Given the description of an element on the screen output the (x, y) to click on. 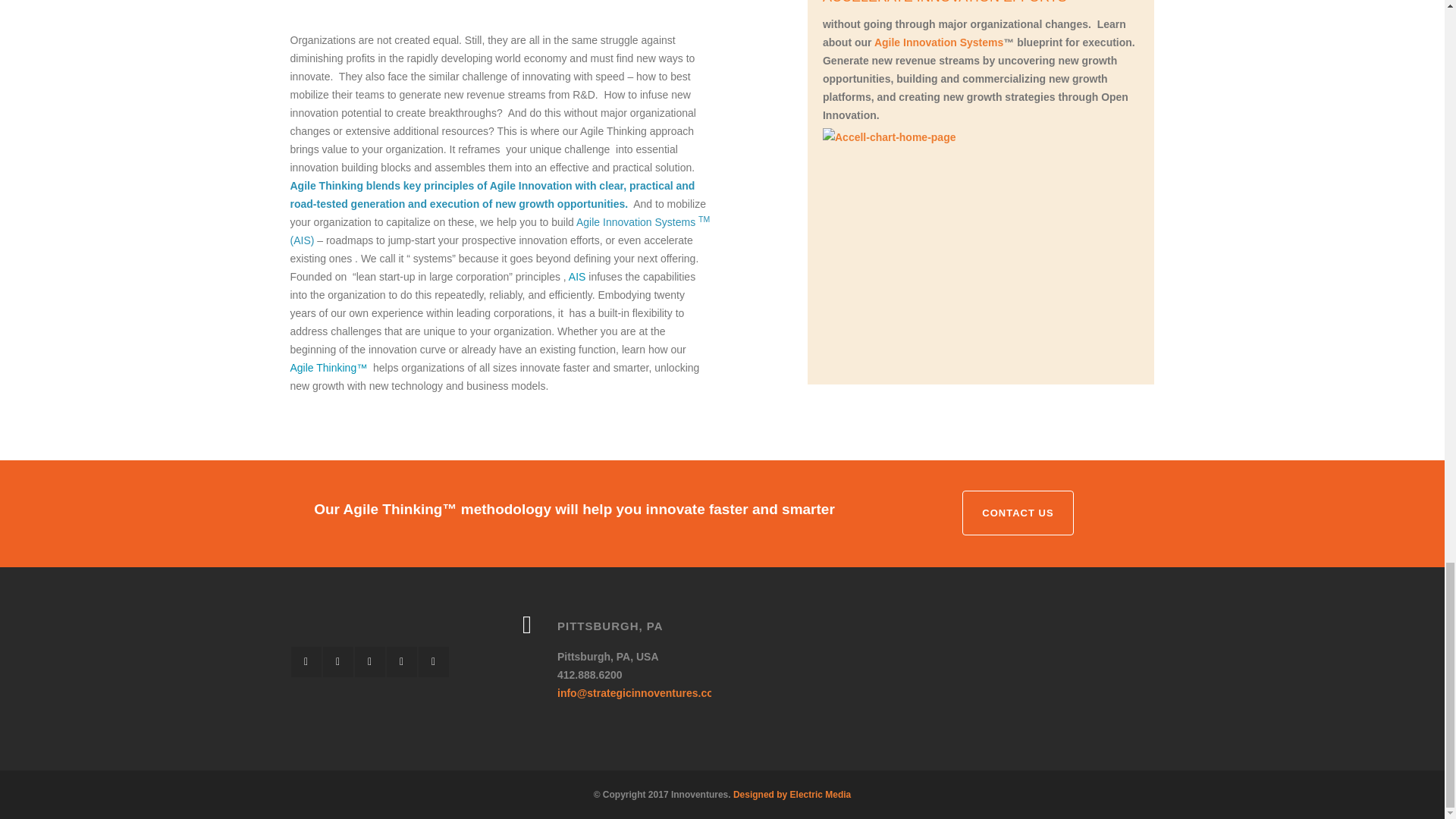
AIS (577, 276)
